Given the description of an element on the screen output the (x, y) to click on. 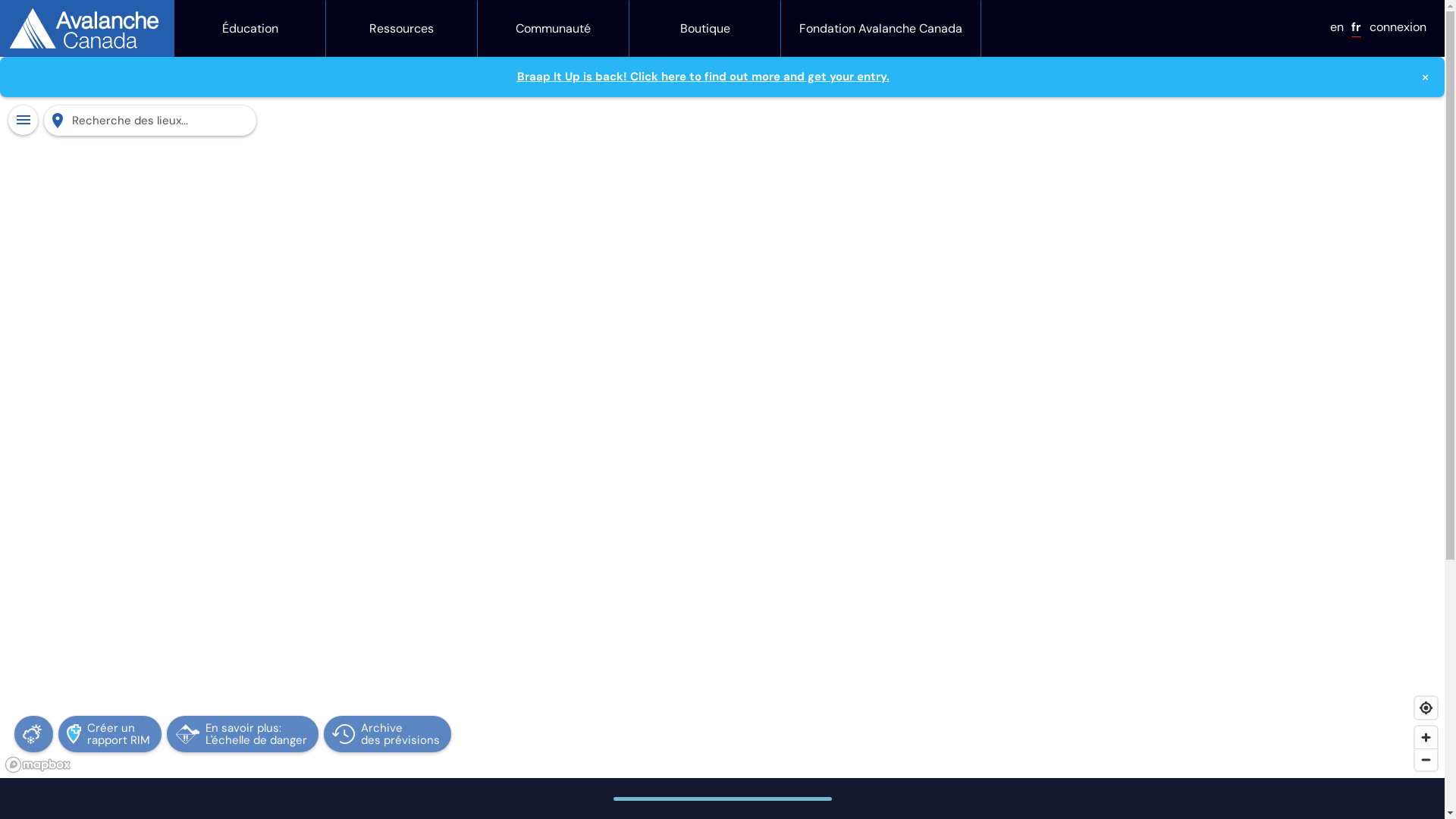
Zoom in Element type: hover (1426, 737)
fr Element type: text (1356, 27)
Zoom out Element type: hover (1426, 759)
Fondation Avalanche Canada Element type: text (880, 28)
Find my location Element type: hover (1426, 707)
Boutique Element type: text (704, 28)
Skip to main content Element type: text (0, 8)
en Element type: text (1336, 27)
connexion Element type: text (1397, 27)
Ressources Element type: text (401, 28)
